Given the description of an element on the screen output the (x, y) to click on. 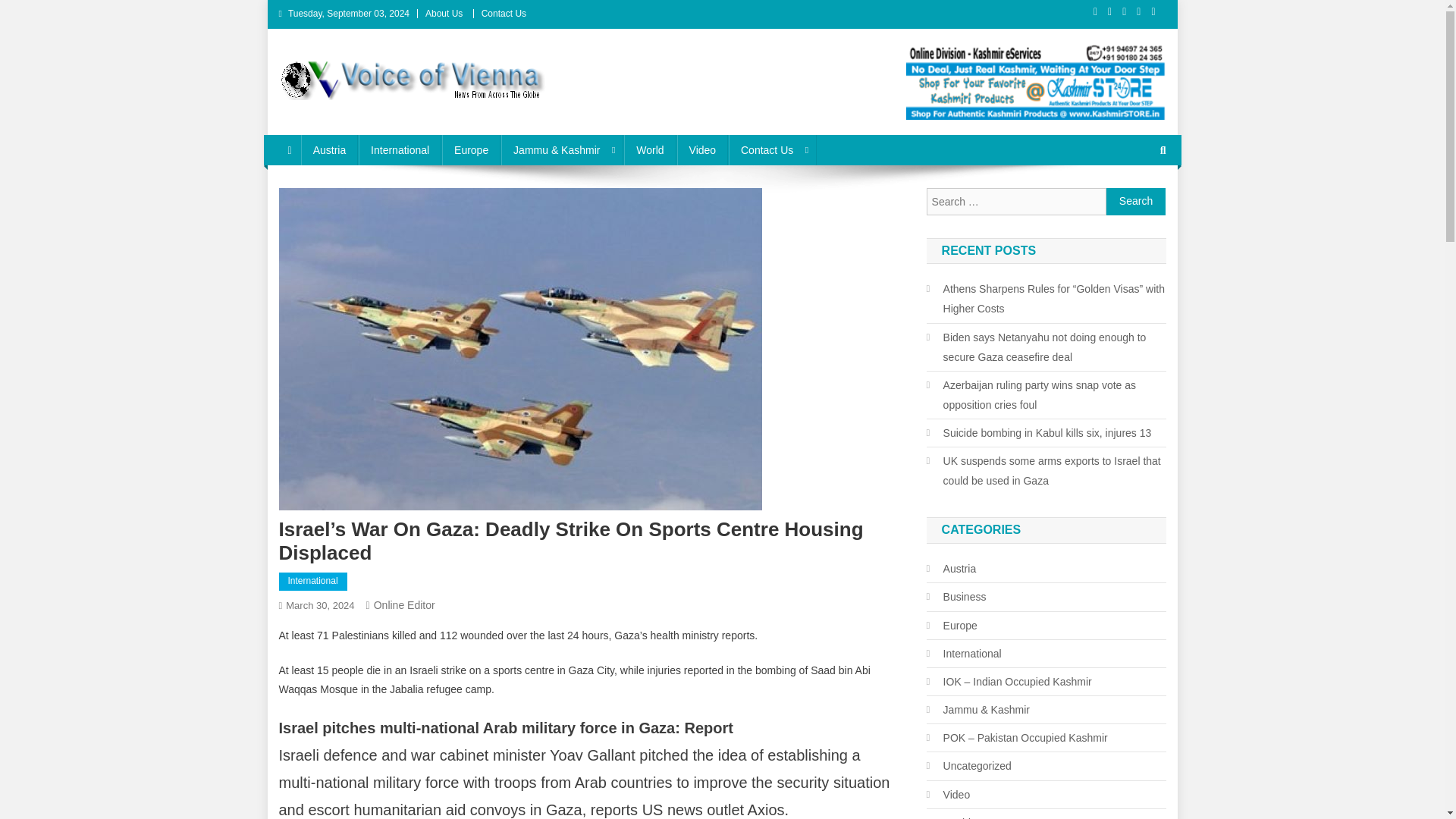
Search (1136, 201)
Online Editor (404, 604)
Voice of Vienna (368, 114)
International (399, 150)
Search (1136, 201)
International (313, 581)
Video (703, 150)
Search (1133, 200)
About Us (444, 13)
Europe (471, 150)
